Given the description of an element on the screen output the (x, y) to click on. 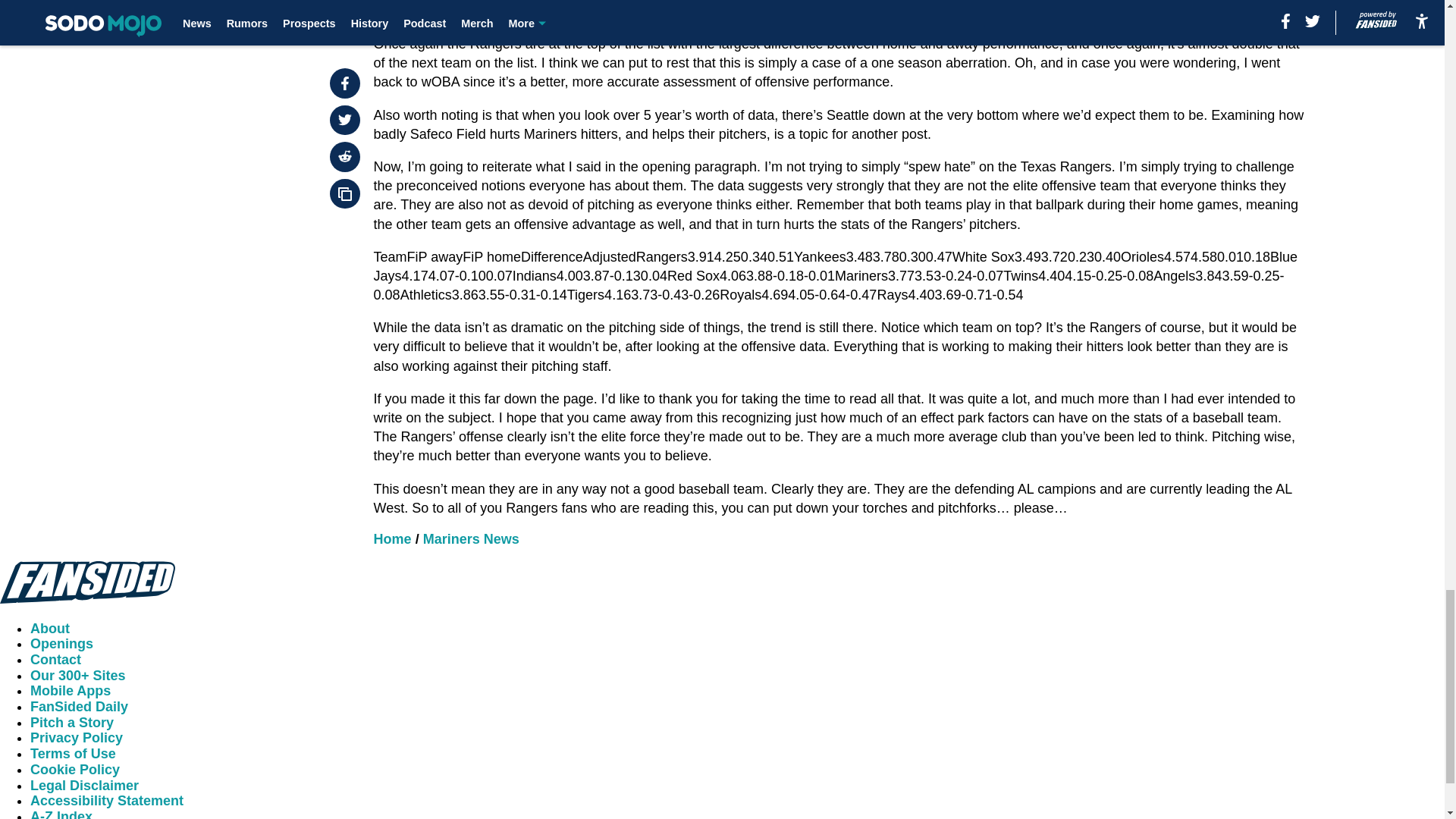
Home (393, 539)
Contact (55, 659)
Mariners News (471, 539)
Mobile Apps (70, 690)
About (49, 628)
Openings (61, 643)
